Given the description of an element on the screen output the (x, y) to click on. 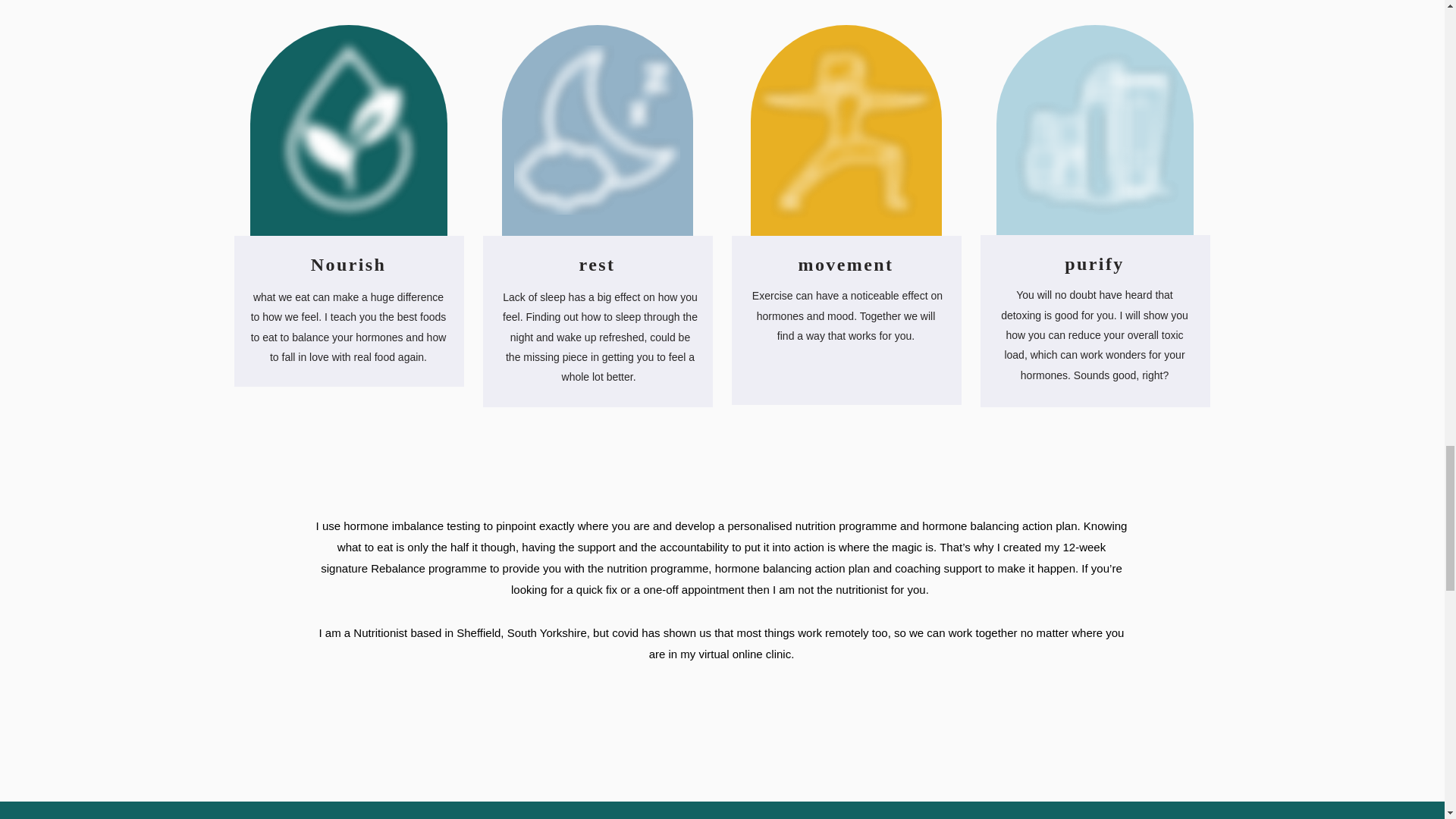
8.png (348, 133)
4.png (843, 128)
1.png (1094, 129)
